Given the description of an element on the screen output the (x, y) to click on. 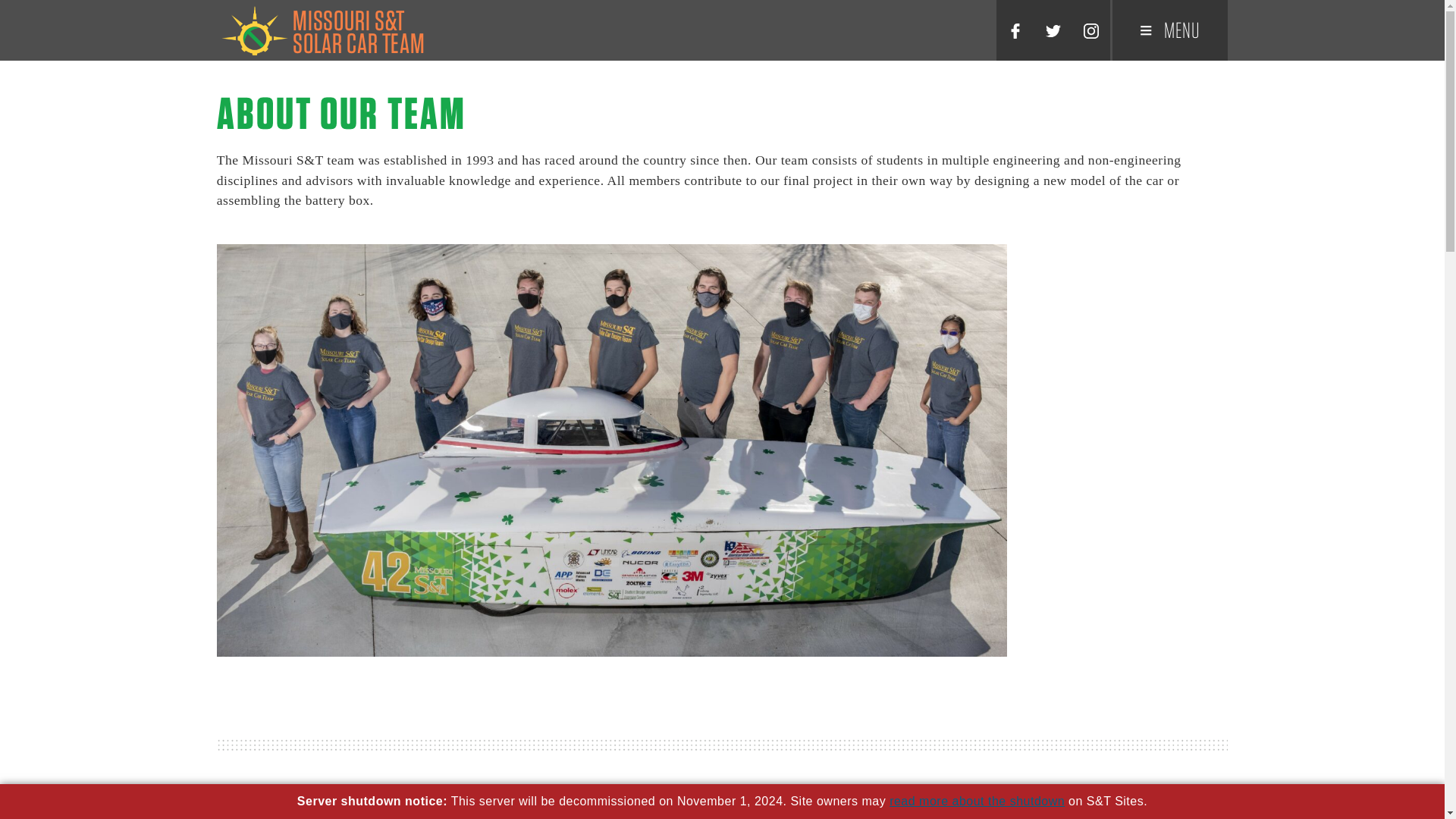
read more about the shutdown (976, 800)
